Given the description of an element on the screen output the (x, y) to click on. 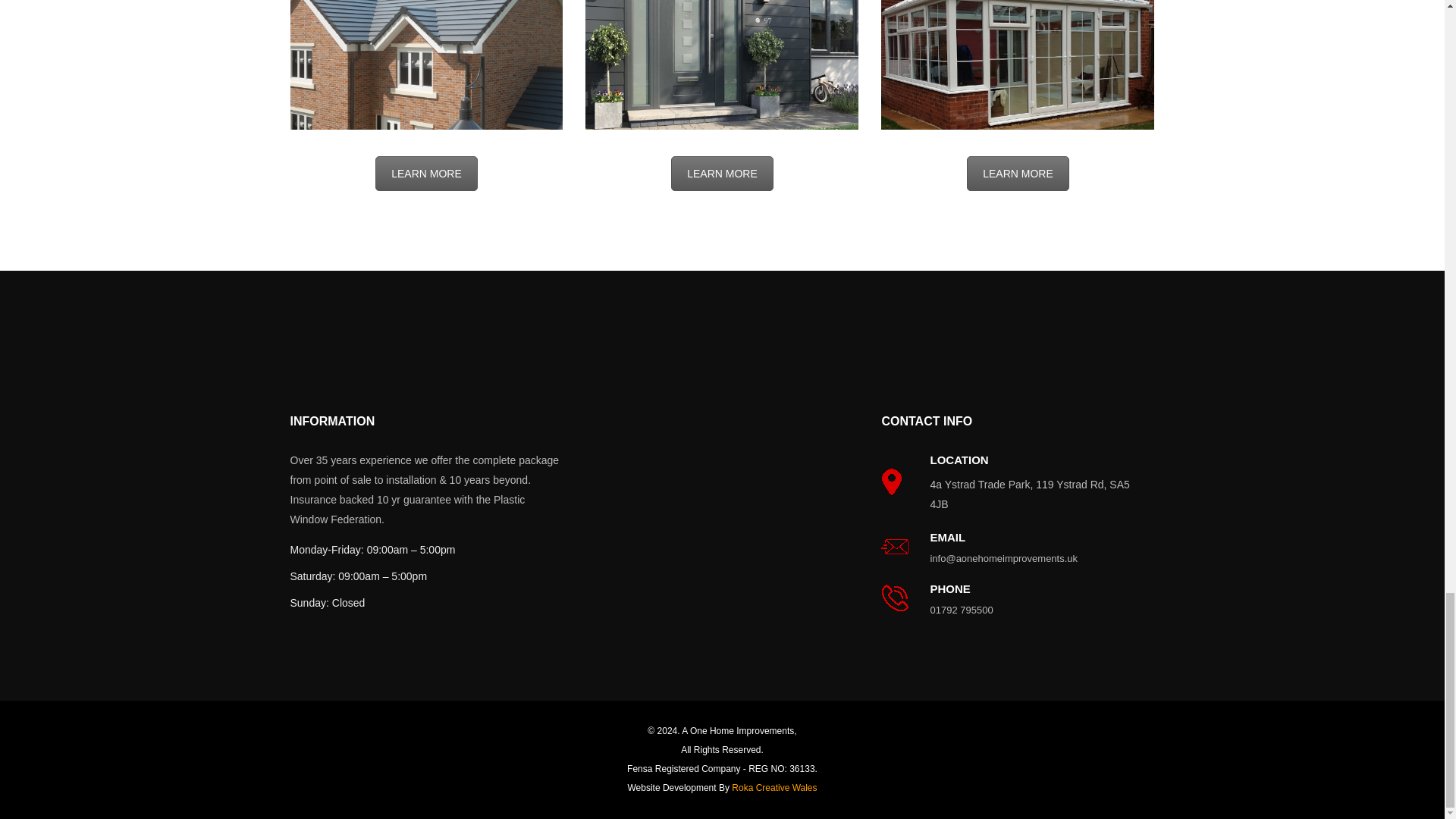
Untitled (425, 64)
LEARN MORE (426, 173)
01792 795500 (1030, 610)
LEARN MORE (722, 173)
LEARN MORE (1017, 173)
